Given the description of an element on the screen output the (x, y) to click on. 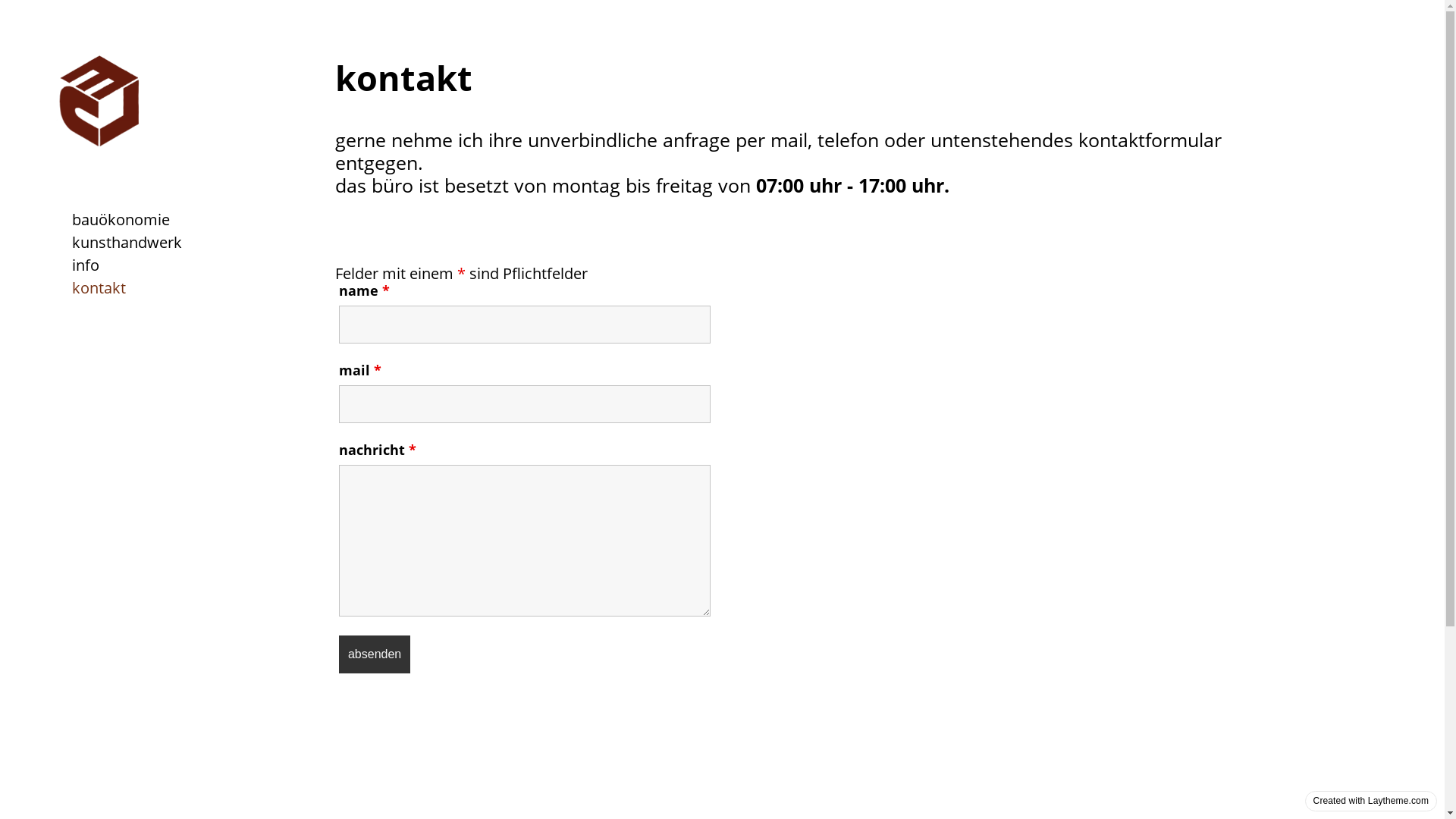
kunsthandwerk Element type: text (127, 242)
kontakt Element type: text (98, 287)
info Element type: text (85, 264)
absenden Element type: text (374, 654)
Created with Laytheme.com Element type: text (1371, 800)
